Given the description of an element on the screen output the (x, y) to click on. 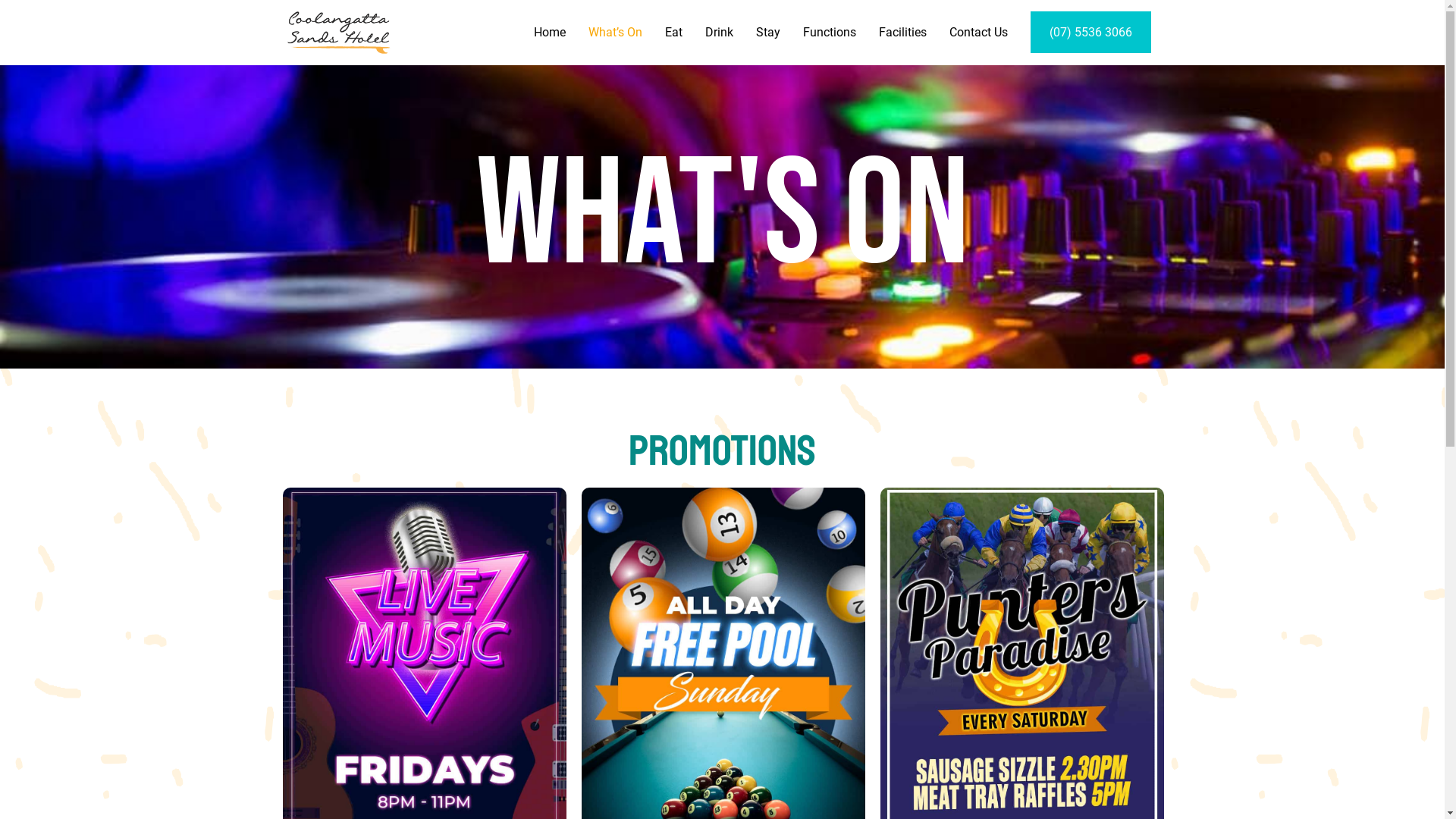
(07) 5536 3066 Element type: text (1090, 32)
Stay Element type: text (767, 32)
Submit Element type: text (619, 573)
Drink Element type: text (718, 32)
Submit Element type: text (934, 523)
Facilities Element type: text (902, 32)
Functions Element type: text (829, 32)
Eat Element type: text (673, 32)
Home Element type: text (549, 32)
Contact Us Element type: text (978, 32)
